Given the description of an element on the screen output the (x, y) to click on. 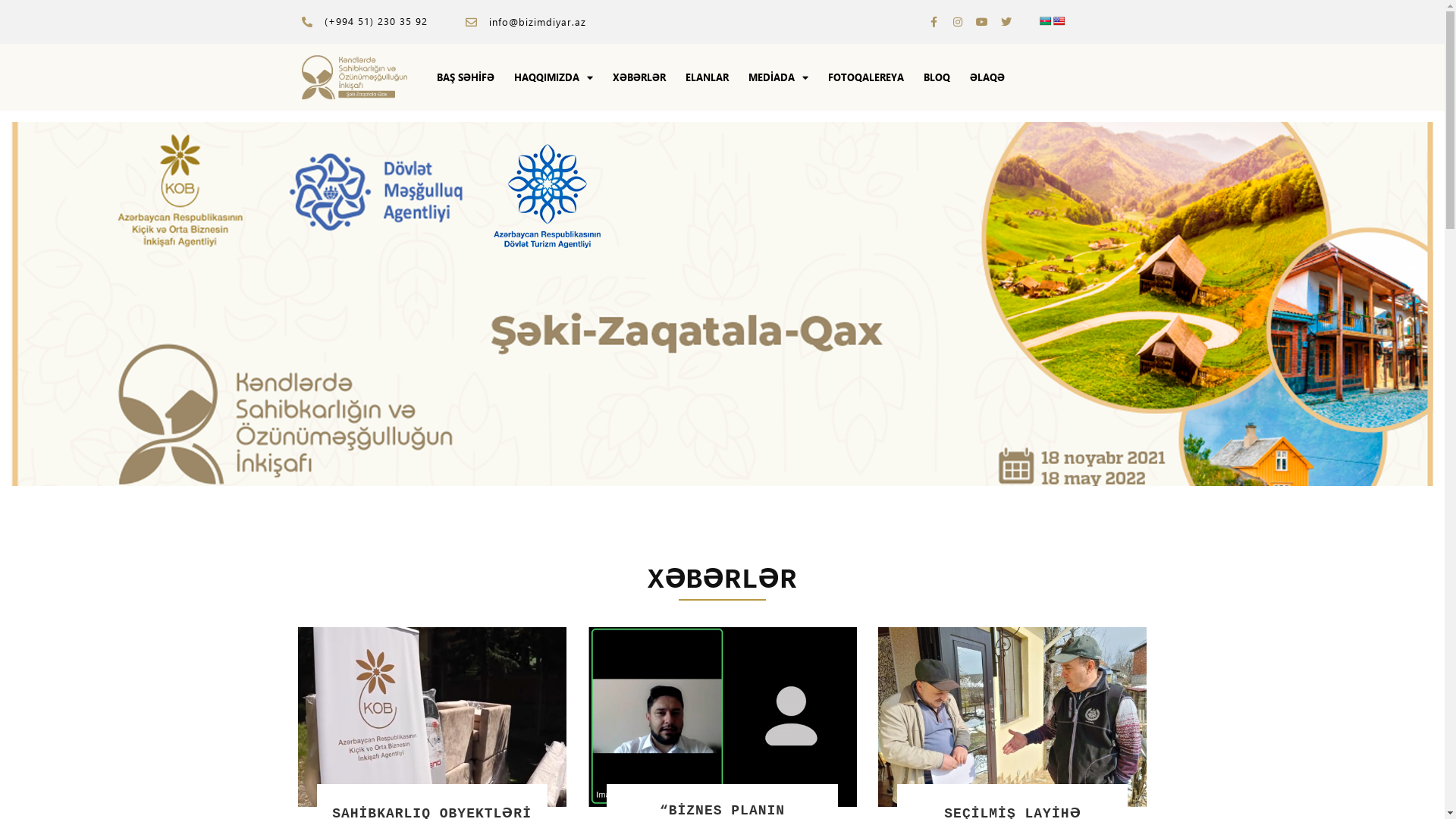
HAQQIMIZDA Element type: text (553, 77)
BLOQ Element type: text (936, 77)
Azerbaijani Element type: hover (1045, 20)
ELANLAR Element type: text (706, 77)
FOTOQALEREYA Element type: text (865, 77)
English Element type: hover (1059, 20)
